Given the description of an element on the screen output the (x, y) to click on. 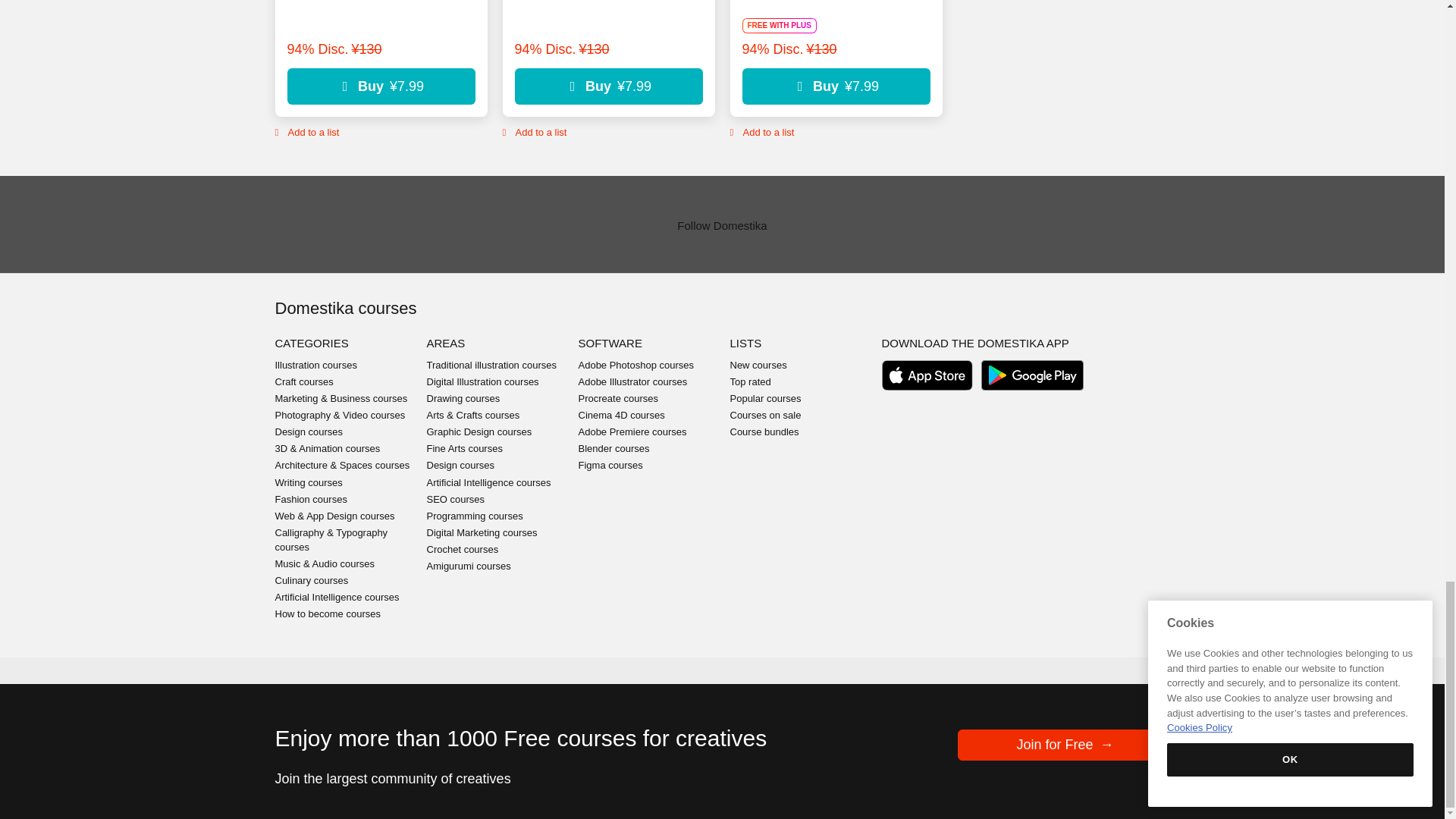
Instagram (1096, 713)
Vimeo (1126, 713)
Facebook (1004, 713)
Twitter (1035, 713)
Youtube (1156, 713)
Pinterest (1066, 713)
